Given the description of an element on the screen output the (x, y) to click on. 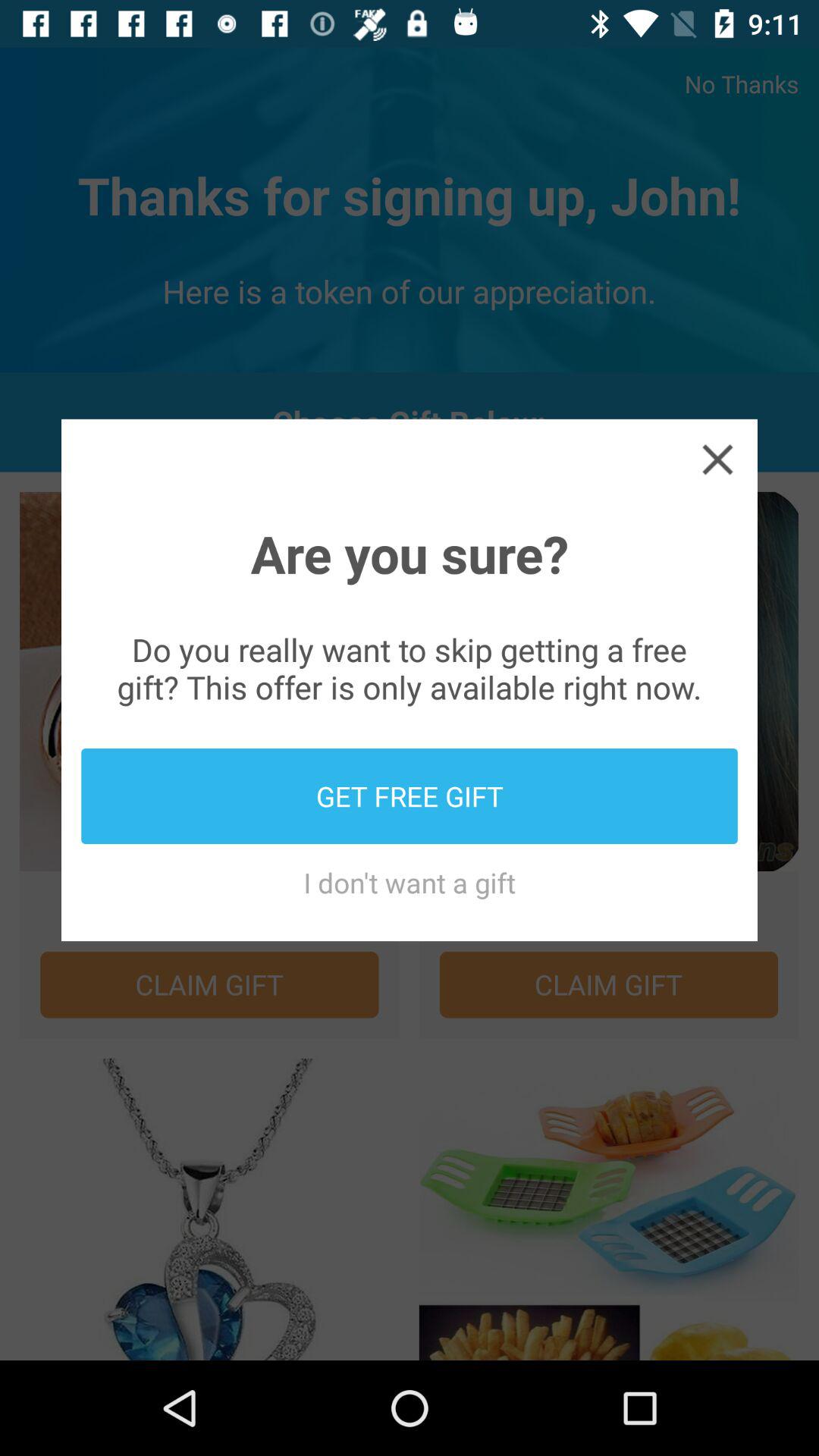
jump until the i don t item (409, 882)
